Given the description of an element on the screen output the (x, y) to click on. 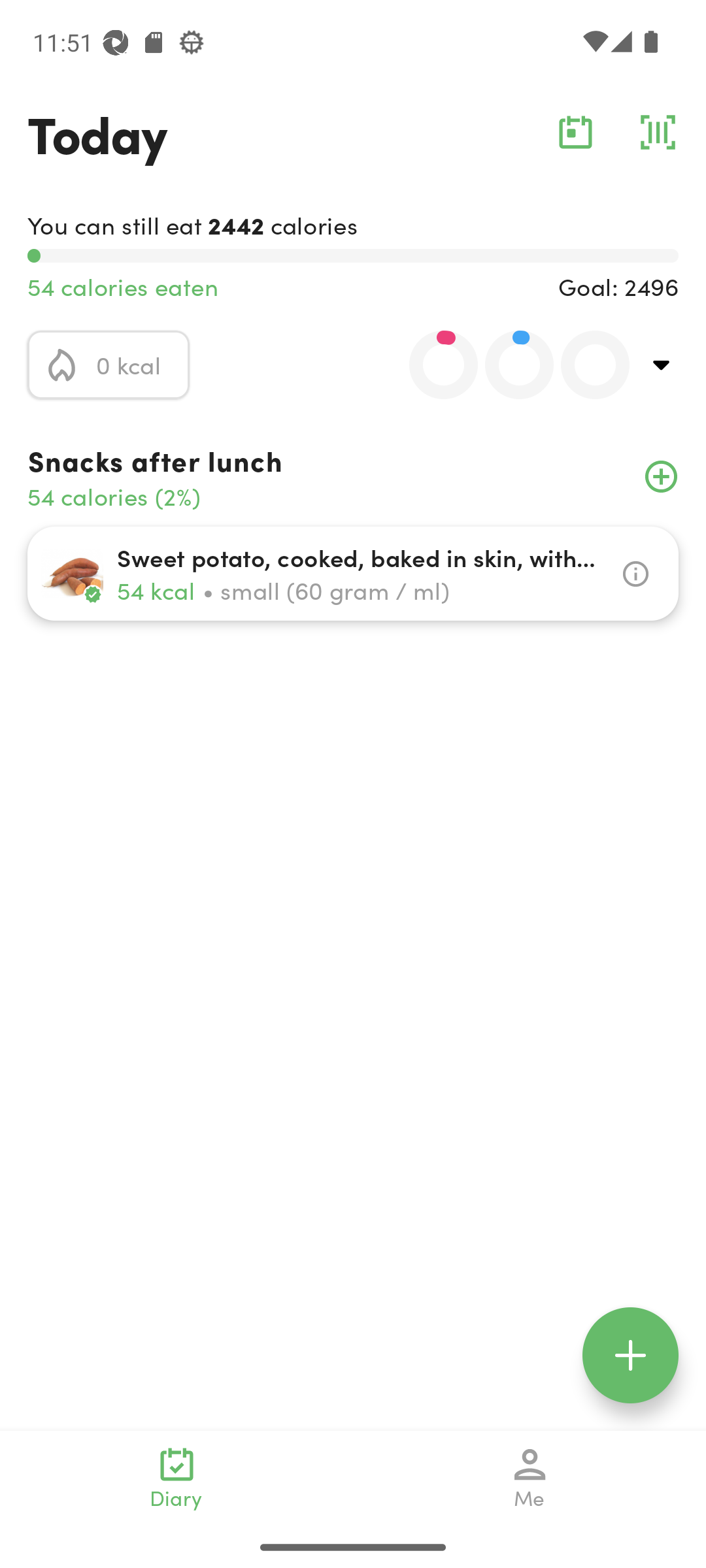
calendar_action (575, 132)
barcode_action (658, 132)
calorie_icon 0 kcal (108, 365)
0.03 0.02 0.0 (508, 365)
top_right_action (661, 365)
info_icon (636, 573)
floating_action_icon (630, 1355)
Me navigation_icon (529, 1478)
